Given the description of an element on the screen output the (x, y) to click on. 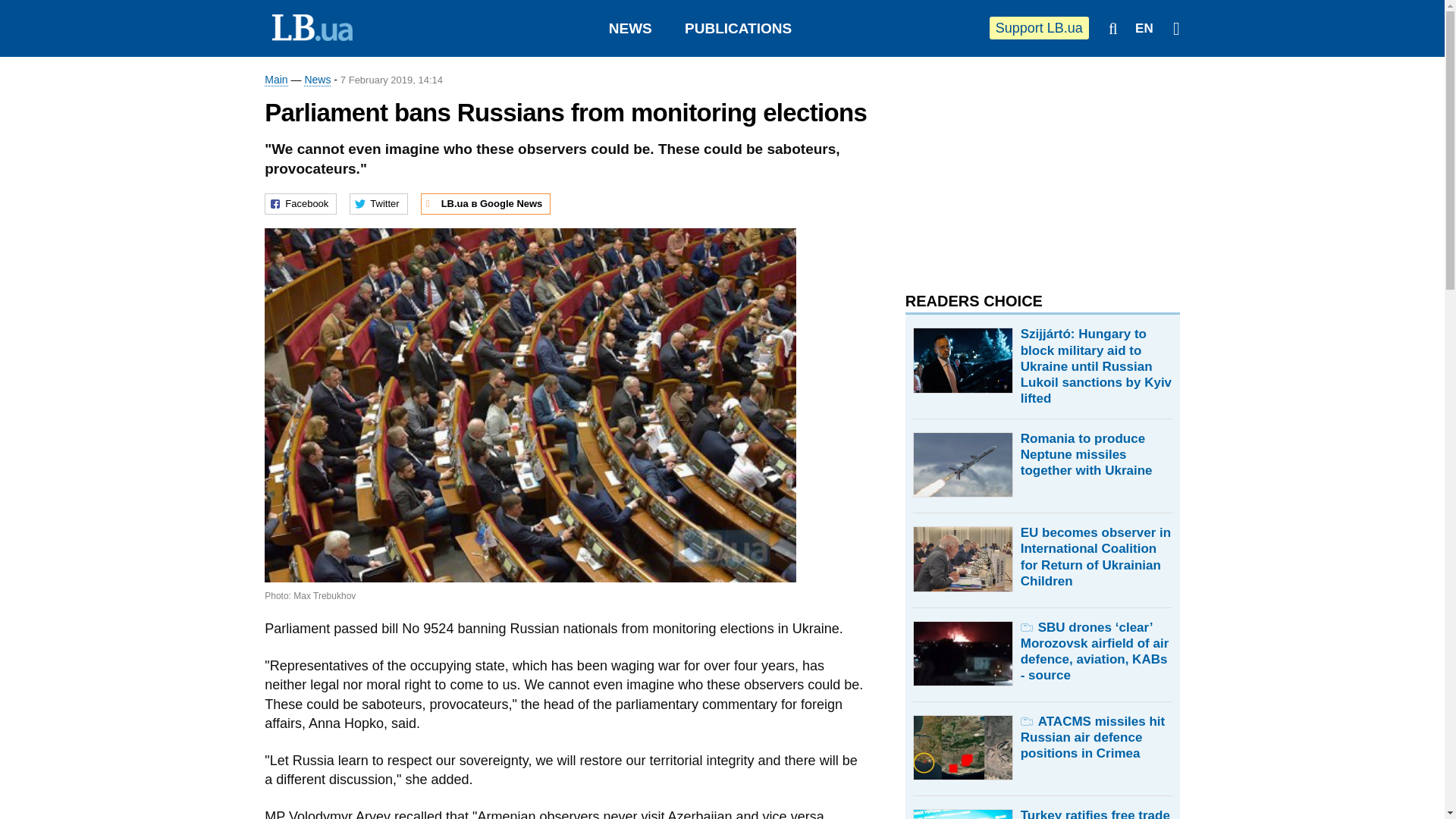
Main (275, 79)
News (317, 79)
NEWS (630, 28)
PUBLICATIONS (738, 28)
EN (1144, 28)
Support LB.ua (1039, 27)
Advertisement (1018, 166)
